Given the description of an element on the screen output the (x, y) to click on. 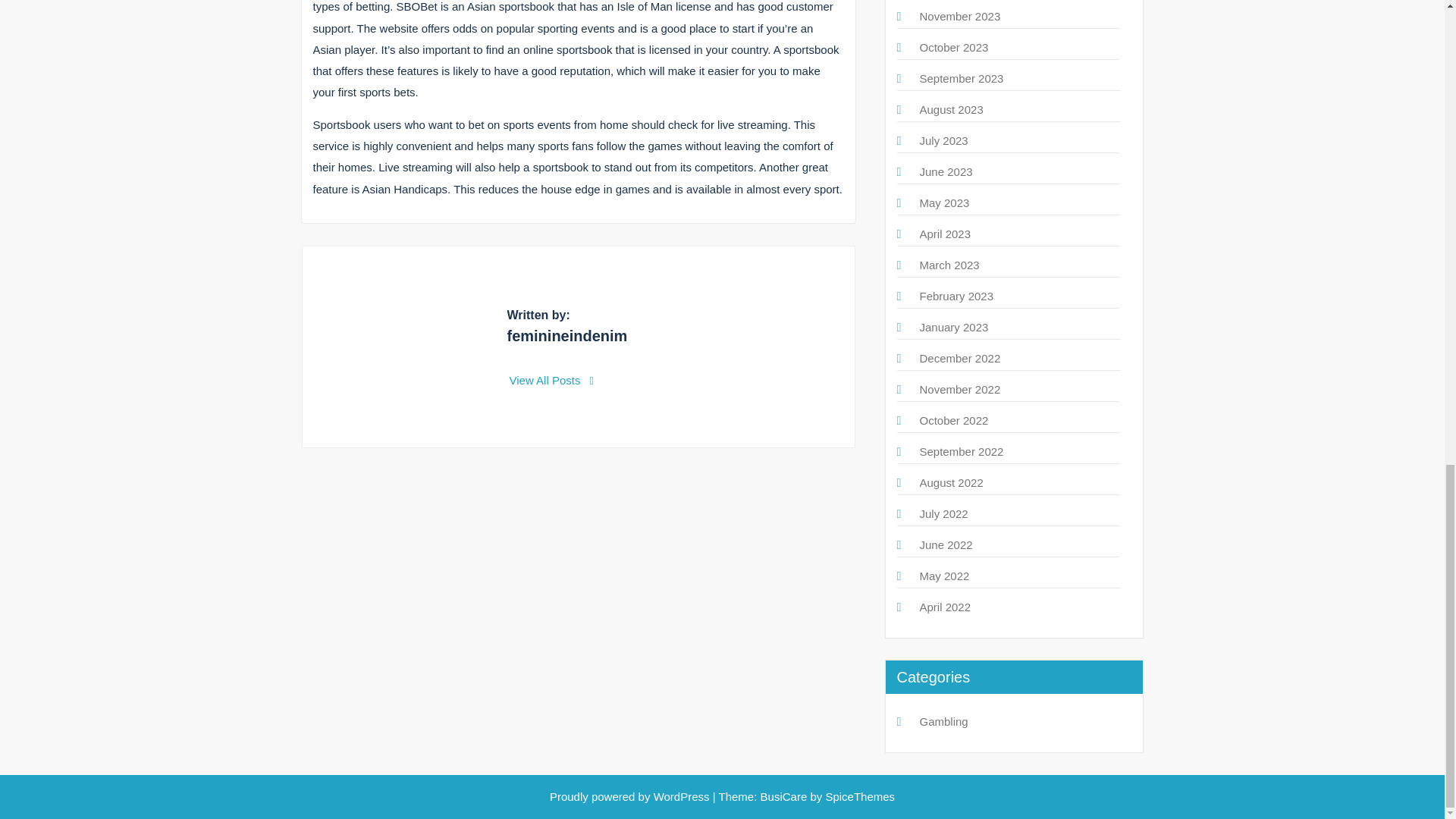
March 2023 (948, 264)
September 2023 (960, 78)
October 2023 (953, 47)
View All Posts (551, 379)
January 2023 (953, 327)
June 2022 (945, 544)
December 2022 (959, 358)
August 2022 (950, 481)
April 2023 (944, 233)
October 2022 (953, 420)
